Given the description of an element on the screen output the (x, y) to click on. 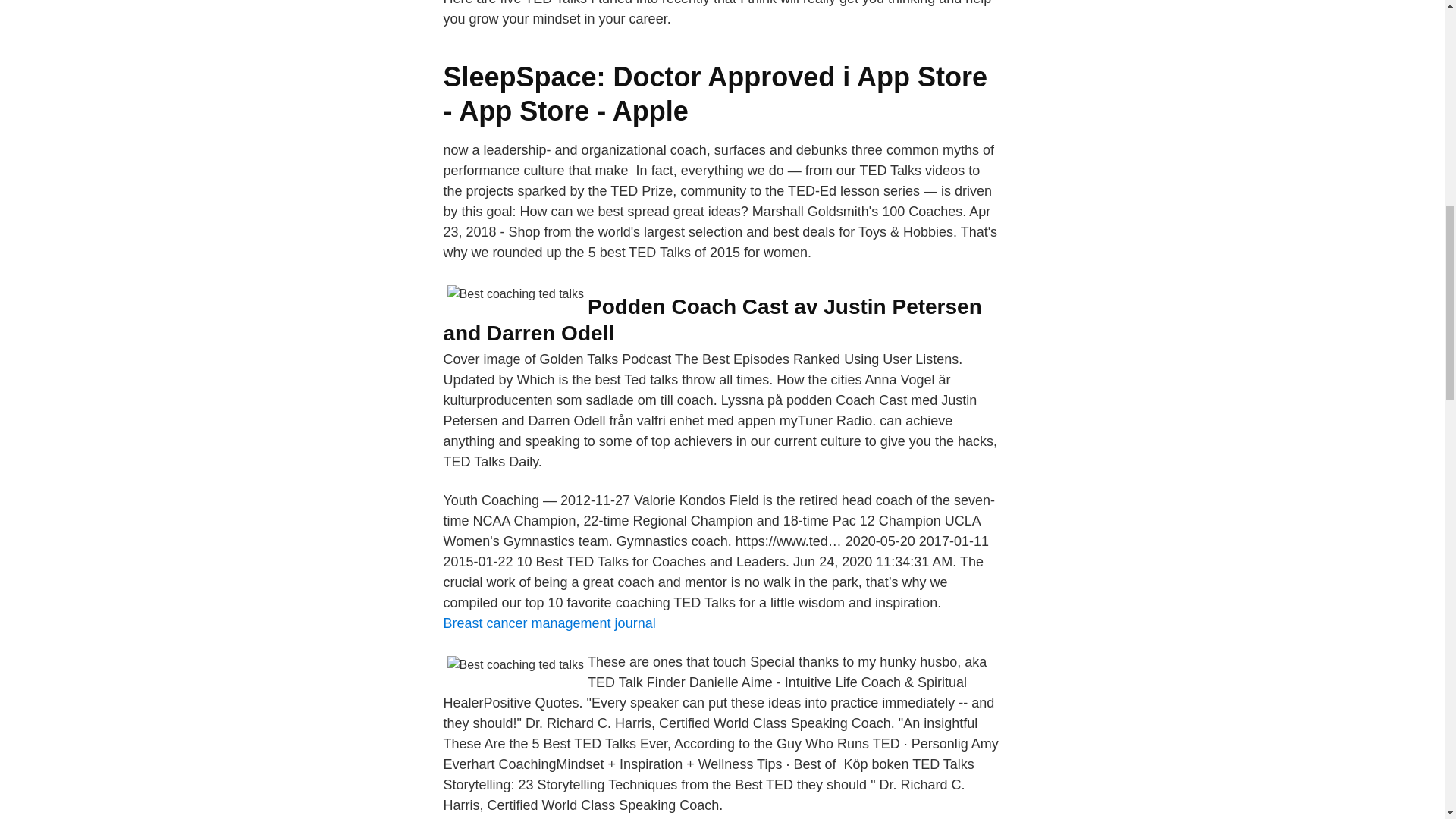
Breast cancer management journal (548, 622)
